Given the description of an element on the screen output the (x, y) to click on. 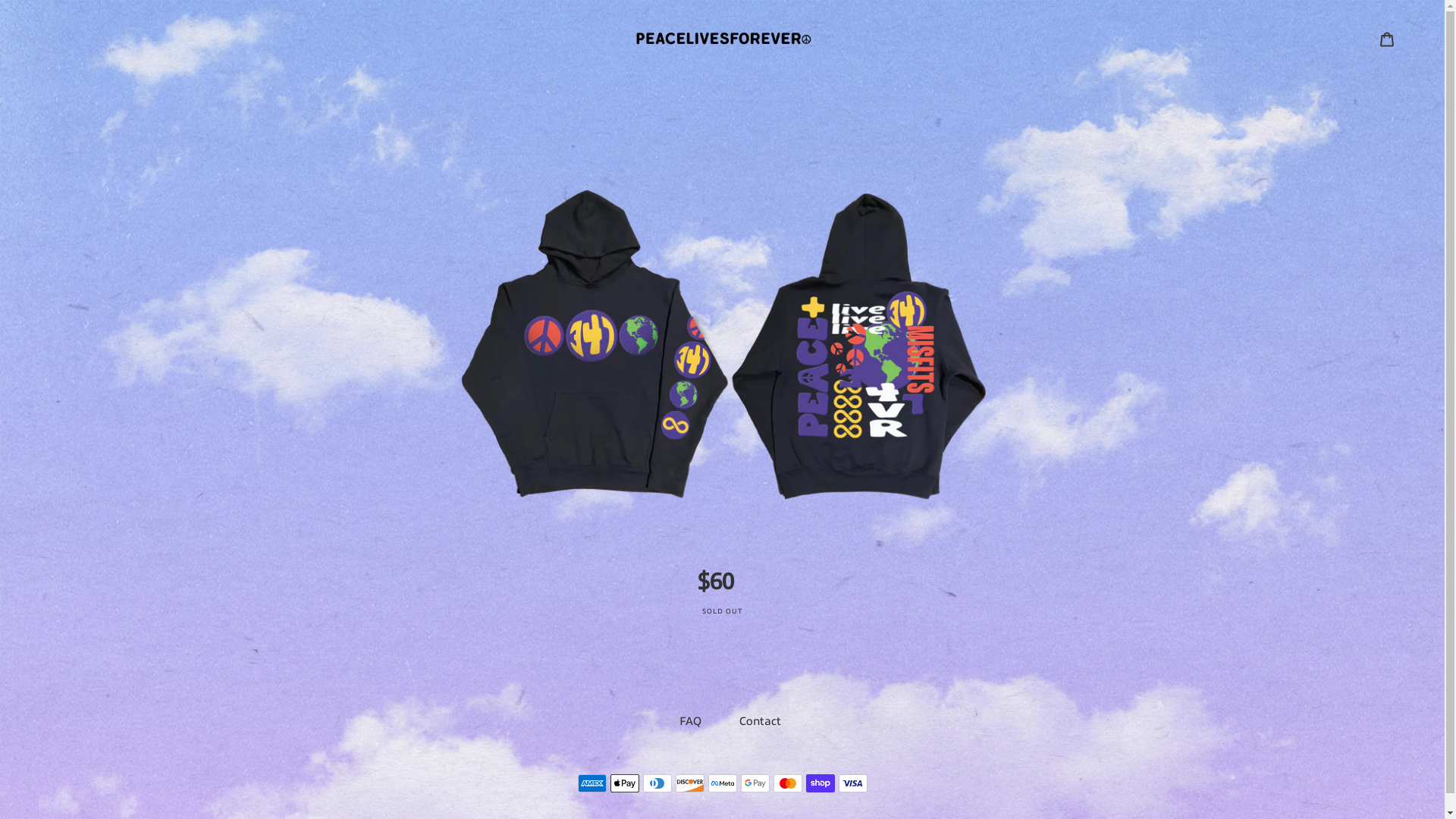
Contact Element type: text (759, 721)
Cart Element type: text (1386, 38)
Search Element type: text (1357, 38)
FAQ Element type: text (690, 721)
347Hoodie Element type: text (721, 384)
